Given the description of an element on the screen output the (x, y) to click on. 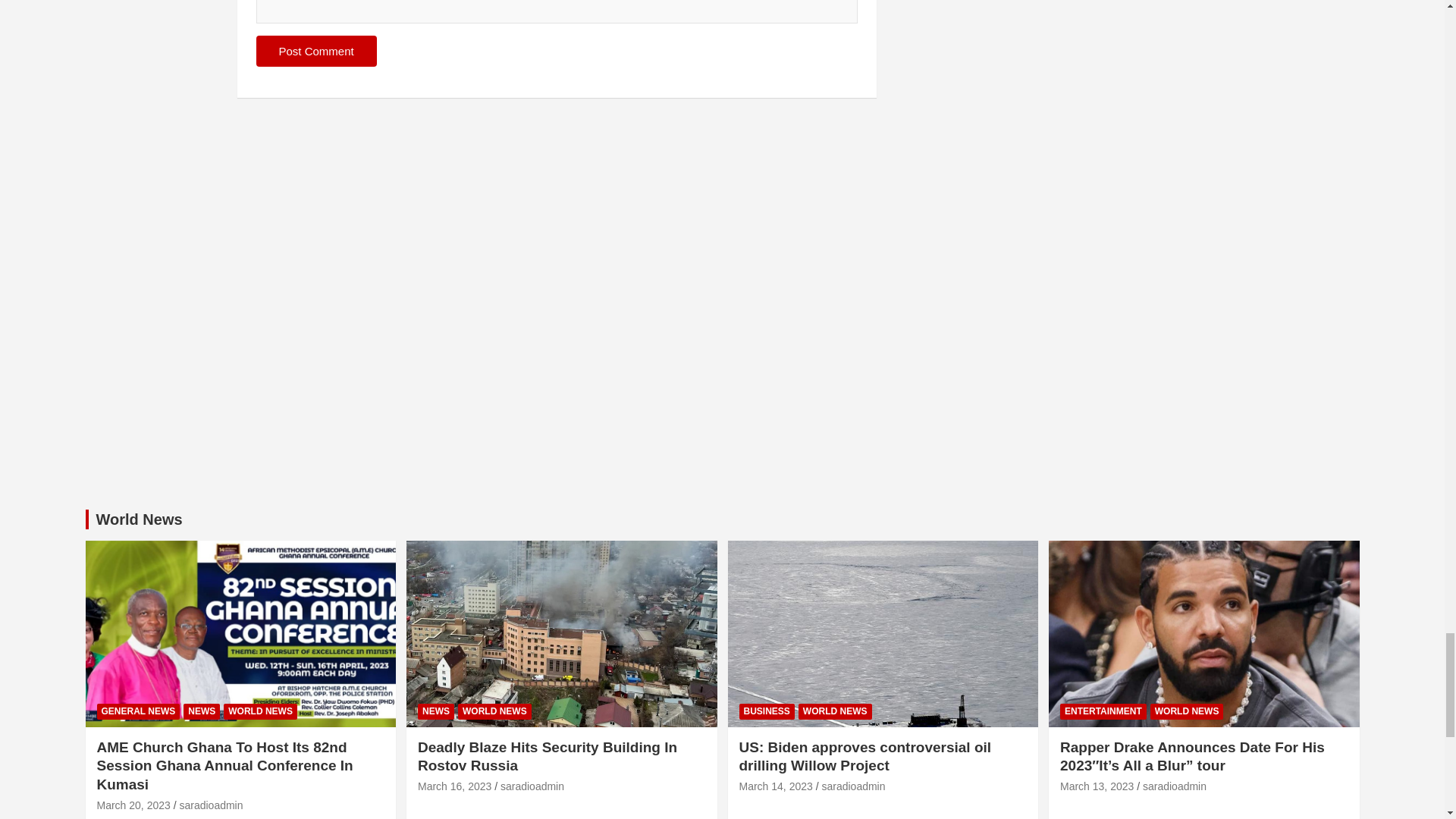
US: Biden approves controversial oil drilling Willow Project (775, 786)
Post Comment (316, 51)
Deadly Blaze Hits Security Building In Rostov Russia (454, 786)
NEWS (201, 711)
World News (139, 519)
Post Comment (316, 51)
GENERAL NEWS (138, 711)
